Given the description of an element on the screen output the (x, y) to click on. 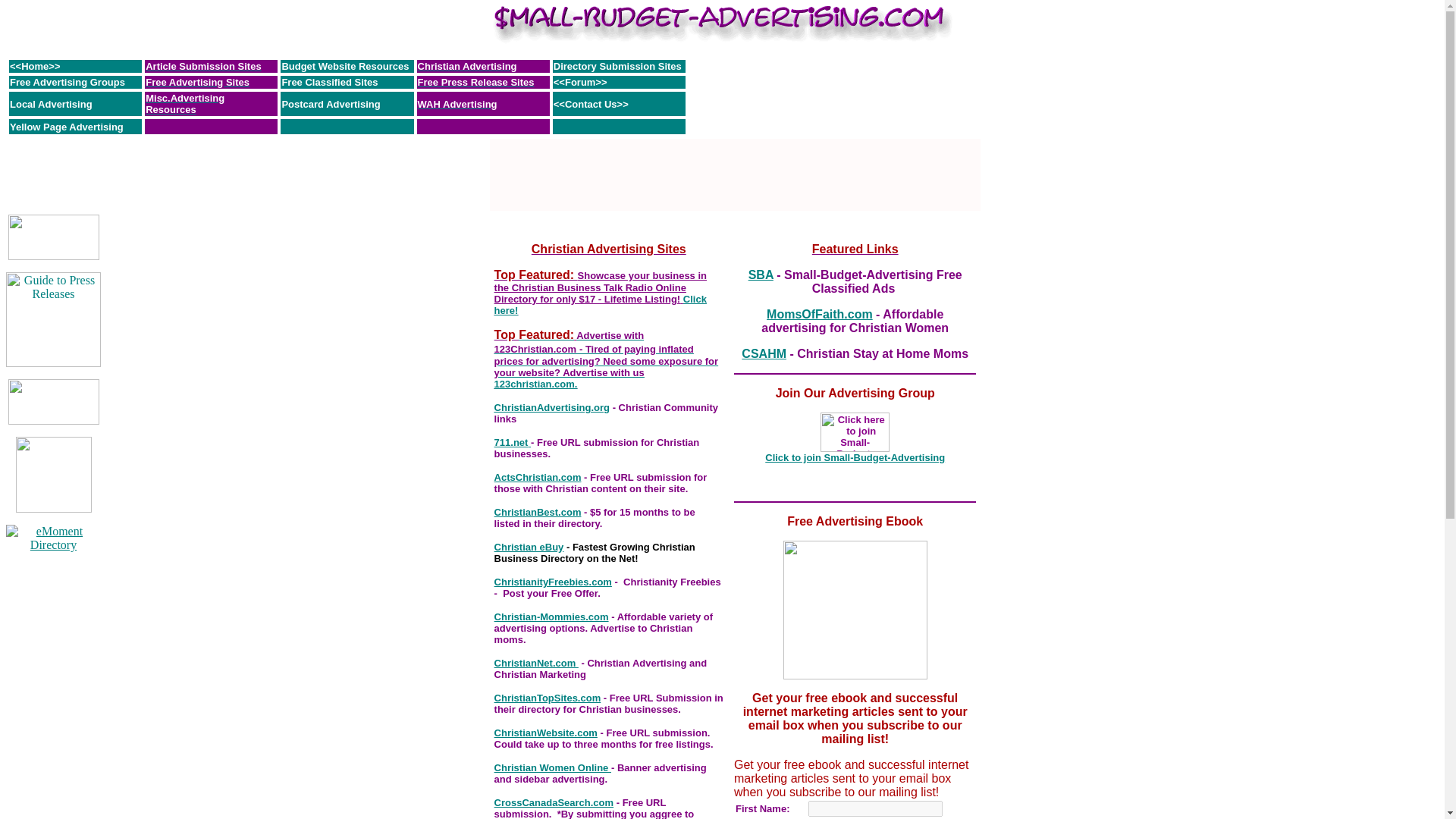
Local Advertising (51, 103)
Christian Advertising (466, 65)
ChristianTopSites.com (548, 697)
Free Press Release Sites (475, 81)
Yellow Page Advertising (66, 125)
ChristianBest.com (537, 511)
ChristianNet.com  (536, 663)
Budget Website Resources (345, 65)
Free Advertising Sites (196, 81)
Christian Women Online (553, 767)
